Given the description of an element on the screen output the (x, y) to click on. 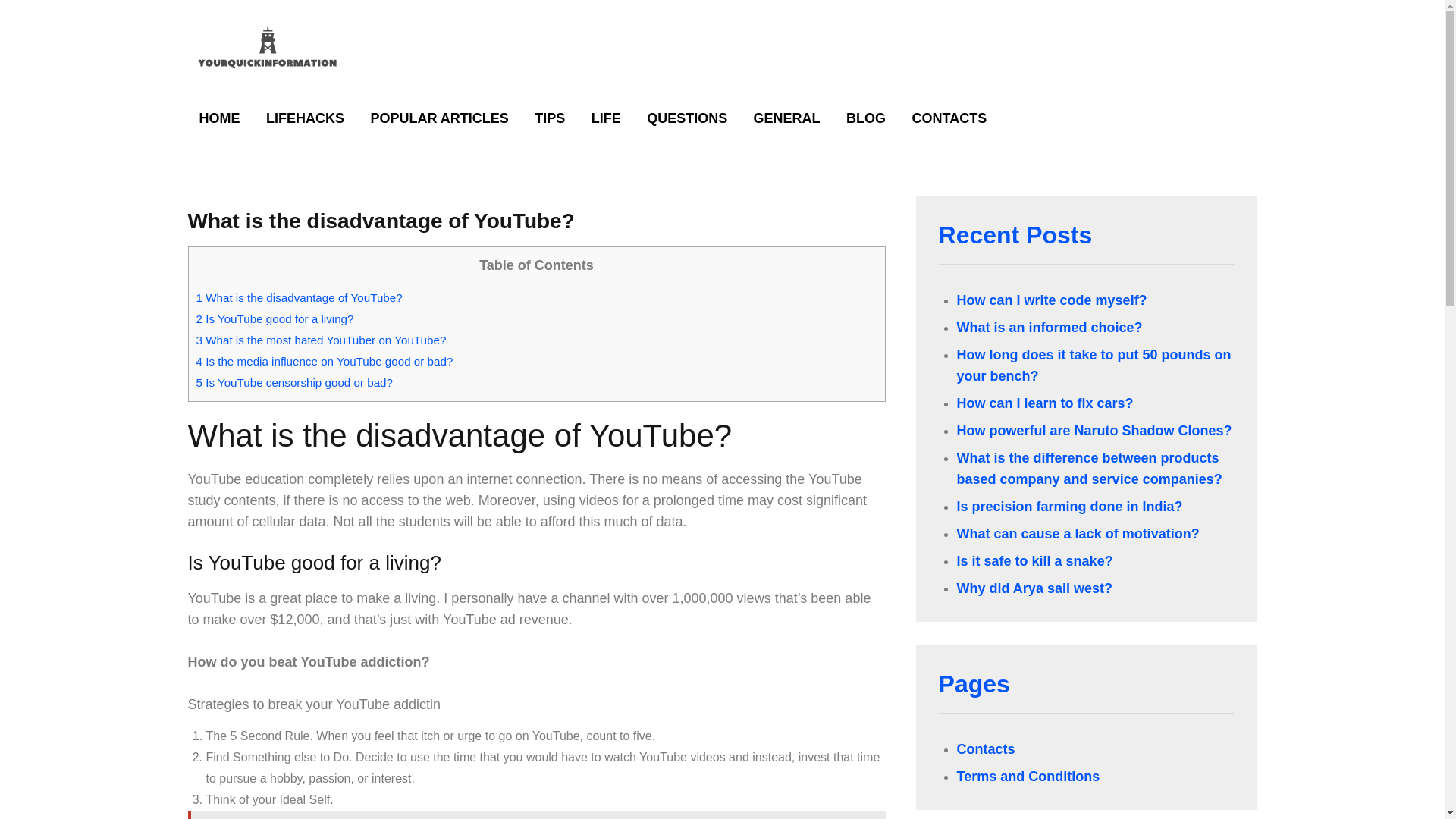
LIFEHACKS (304, 118)
BLOG (865, 118)
How long does it take to put 50 pounds on your bench? (1093, 365)
TIPS (549, 118)
POPULAR ARTICLES (438, 118)
GENERAL (786, 118)
4 Is the media influence on YouTube good or bad? (323, 360)
2 Is YouTube good for a living? (274, 318)
LIFE (605, 118)
